Given the description of an element on the screen output the (x, y) to click on. 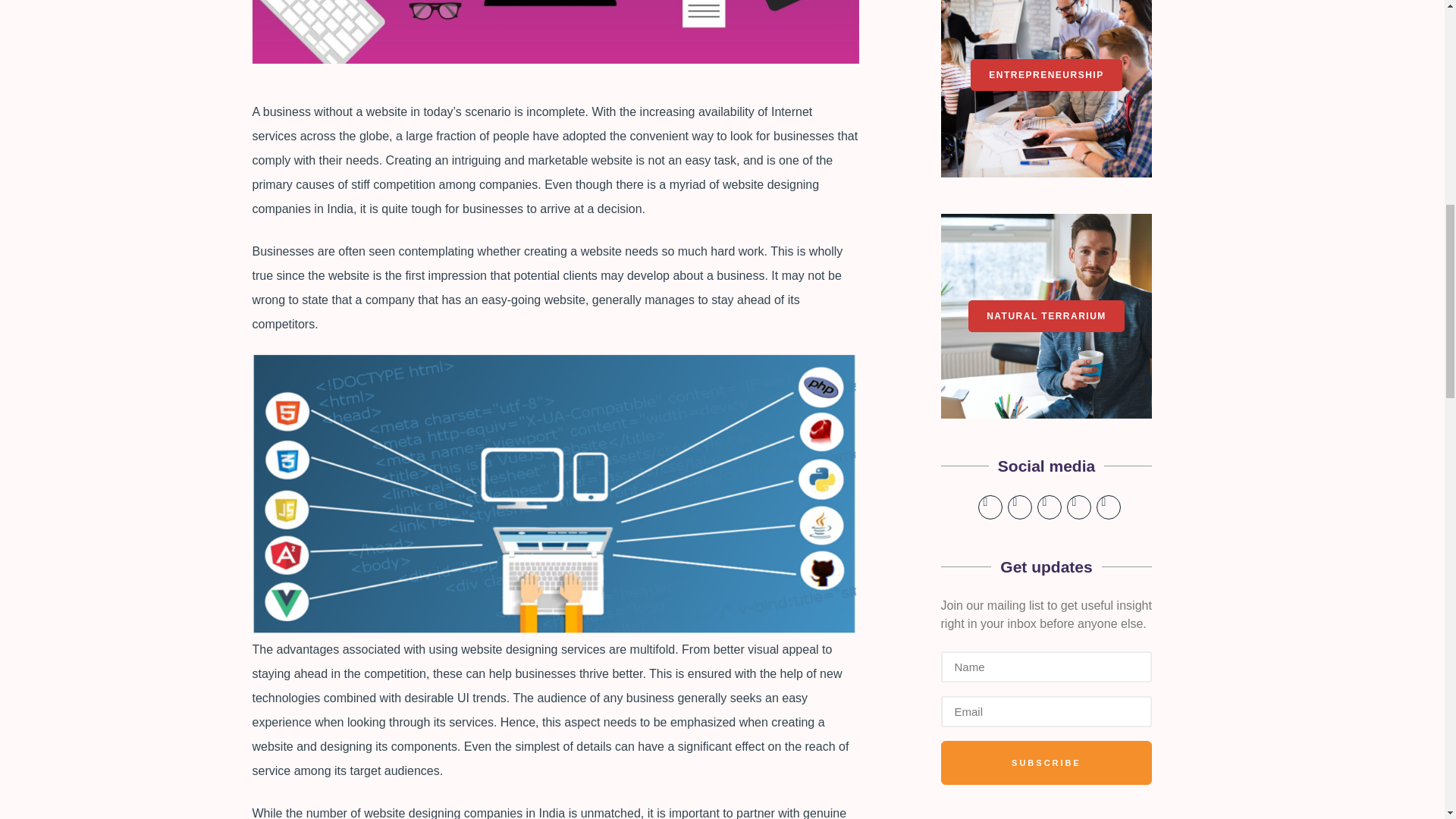
SUBSCRIBE (1045, 718)
ENTREPRENEURSHIP (1046, 74)
NATURAL TERRARIUM (1046, 316)
Get updates (1045, 576)
Social media (1045, 475)
